Given the description of an element on the screen output the (x, y) to click on. 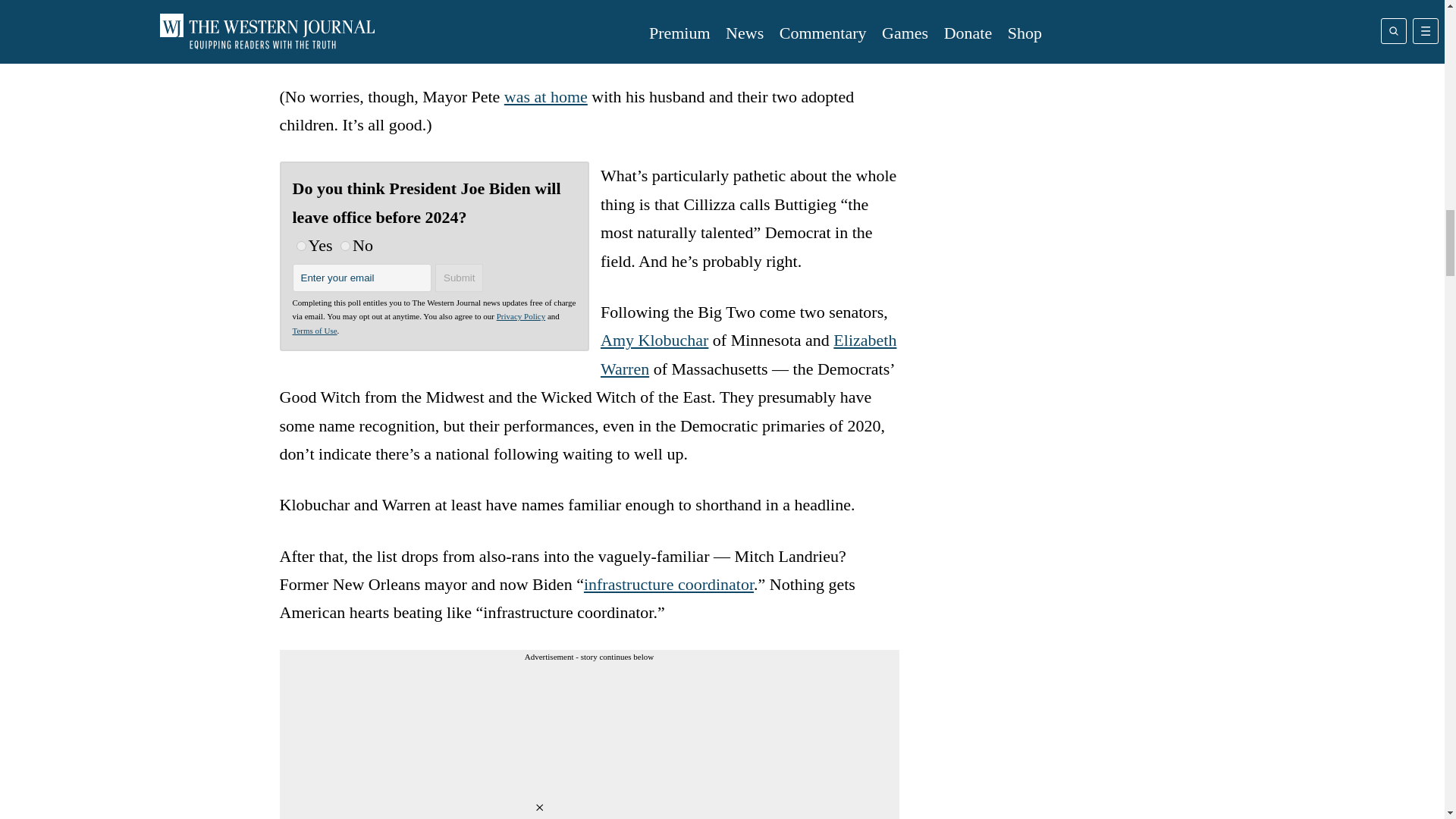
no (345, 245)
yes (300, 245)
Submit (459, 277)
